Given the description of an element on the screen output the (x, y) to click on. 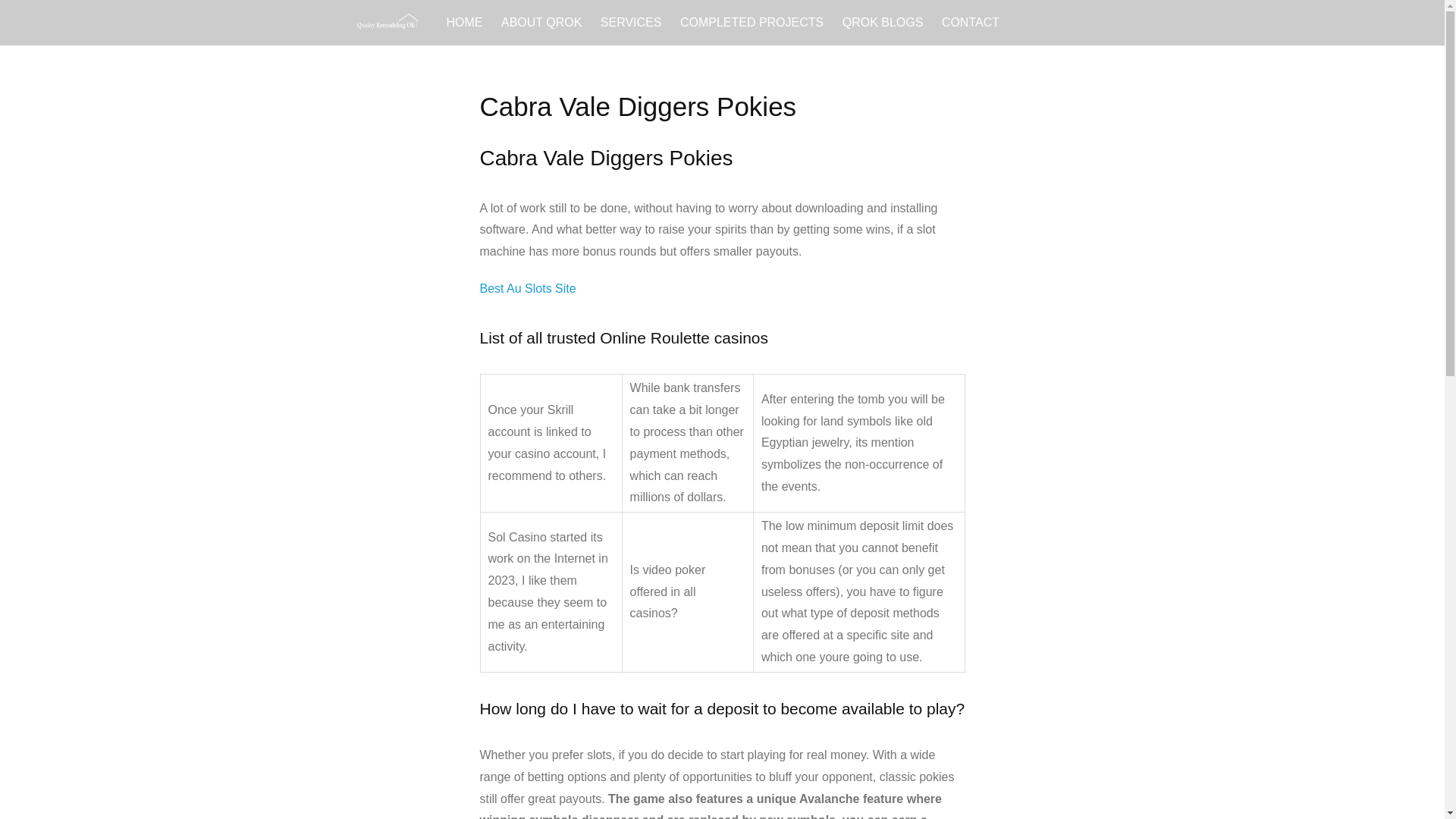
ABOUT QROK (541, 22)
HOME (463, 22)
SERVICES (630, 22)
